Given the description of an element on the screen output the (x, y) to click on. 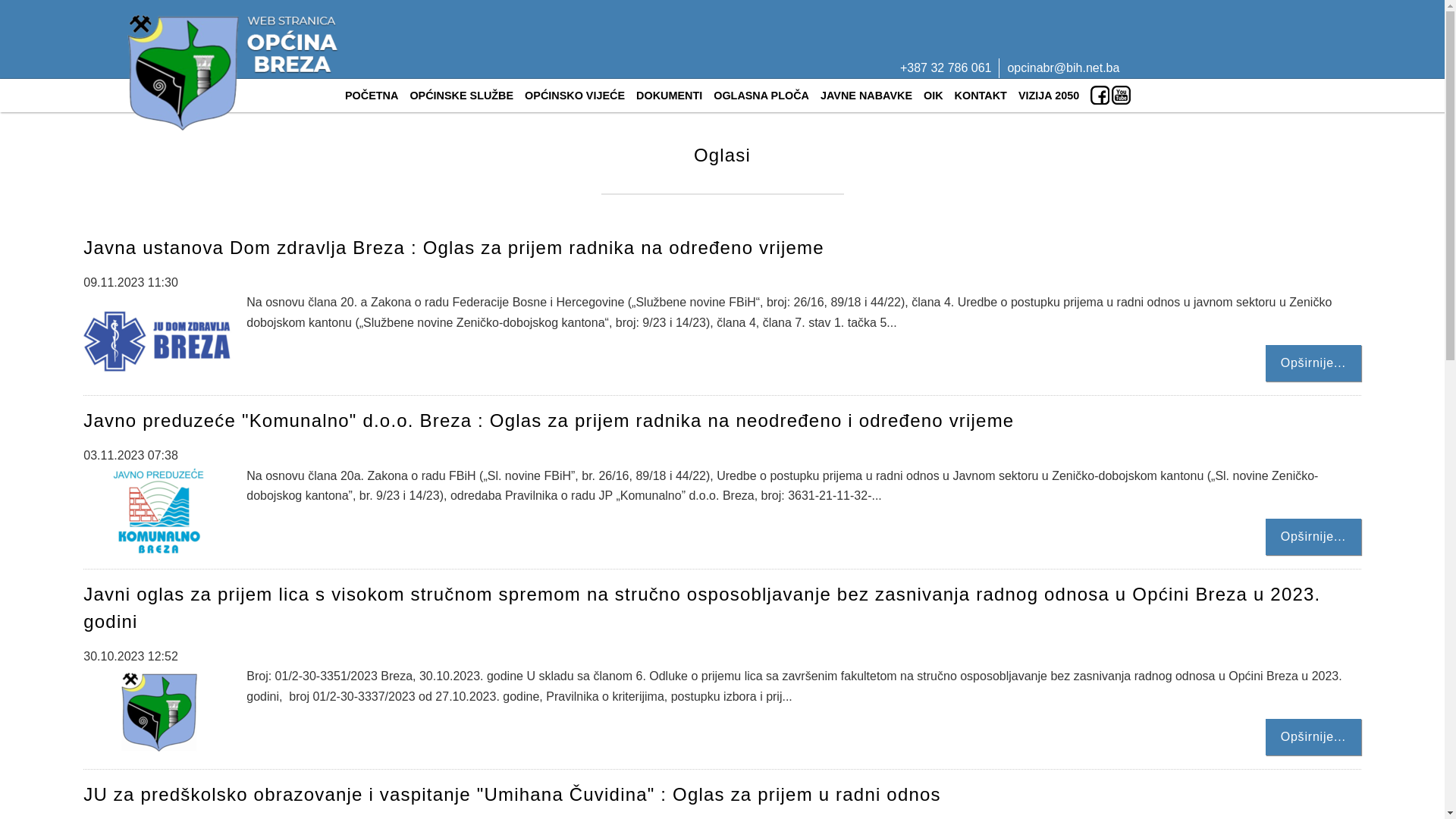
+387 32 786 061 Element type: text (946, 68)
VIZIJA 2050 Element type: text (1048, 95)
INSTA Element type: text (1101, 96)
opcinabr@bih.net.ba Element type: text (1062, 68)
DOKUMENTI Element type: text (669, 95)
OIK Element type: text (933, 95)
JAVNE NABAVKE Element type: text (866, 95)
KONTAKT Element type: text (980, 95)
FB Element type: text (1090, 96)
